Given the description of an element on the screen output the (x, y) to click on. 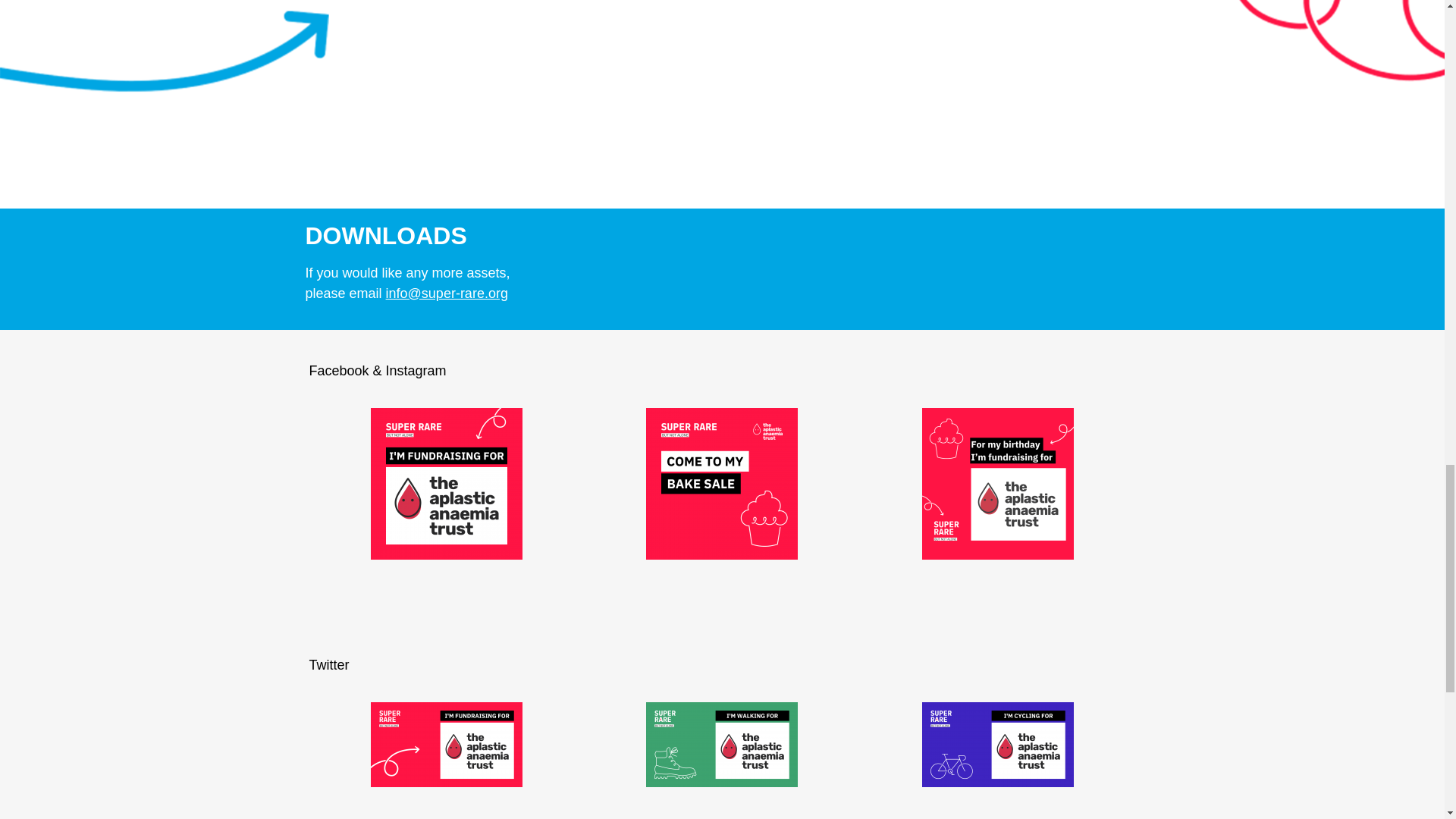
1 (446, 744)
3 (721, 744)
1 (446, 483)
15 (997, 483)
5 (721, 483)
4 (997, 744)
